Given the description of an element on the screen output the (x, y) to click on. 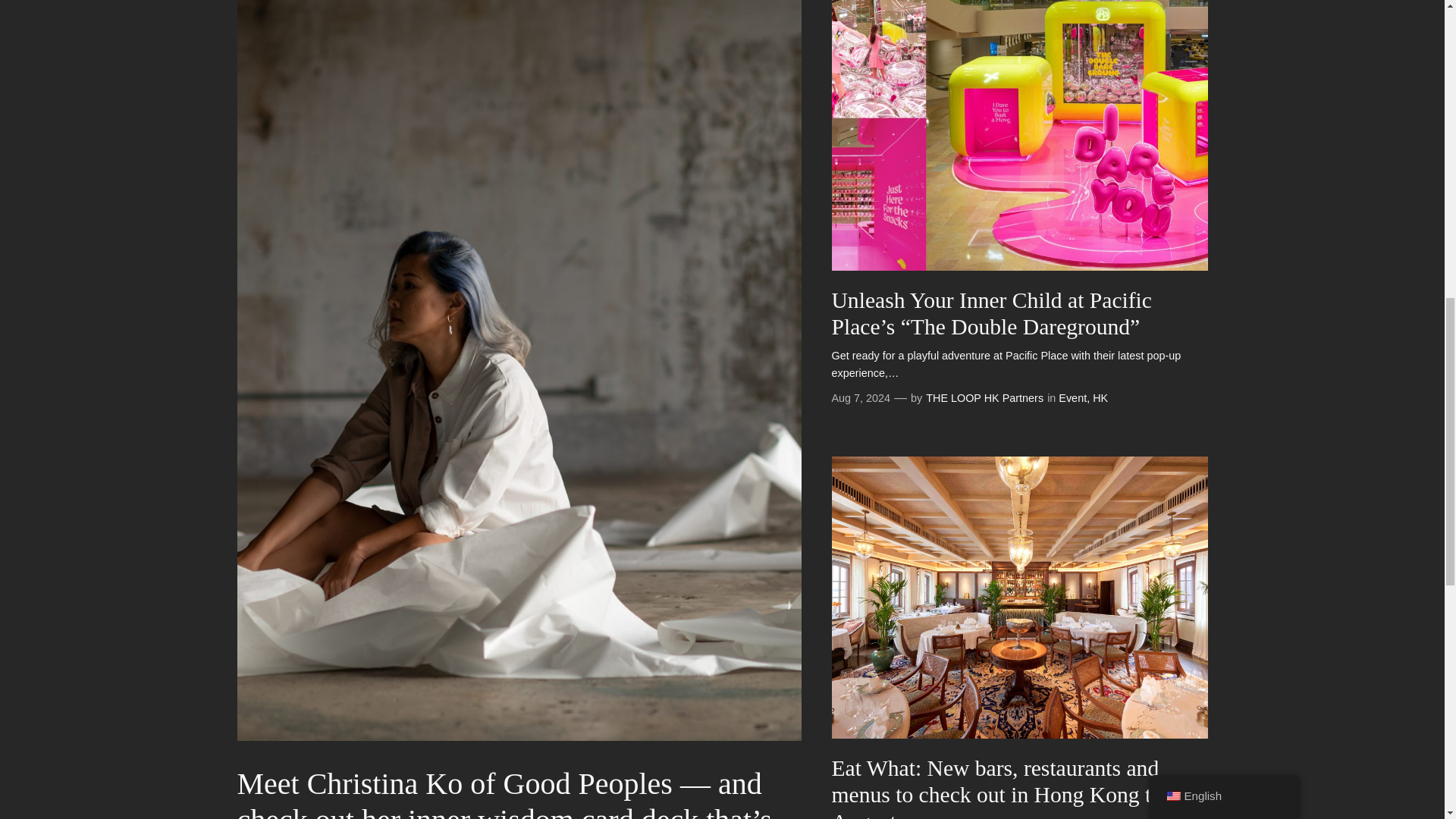
Event (1072, 398)
Aug 7, 2024 (860, 398)
THE LOOP HK Partners (984, 398)
HK (1100, 398)
